Given the description of an element on the screen output the (x, y) to click on. 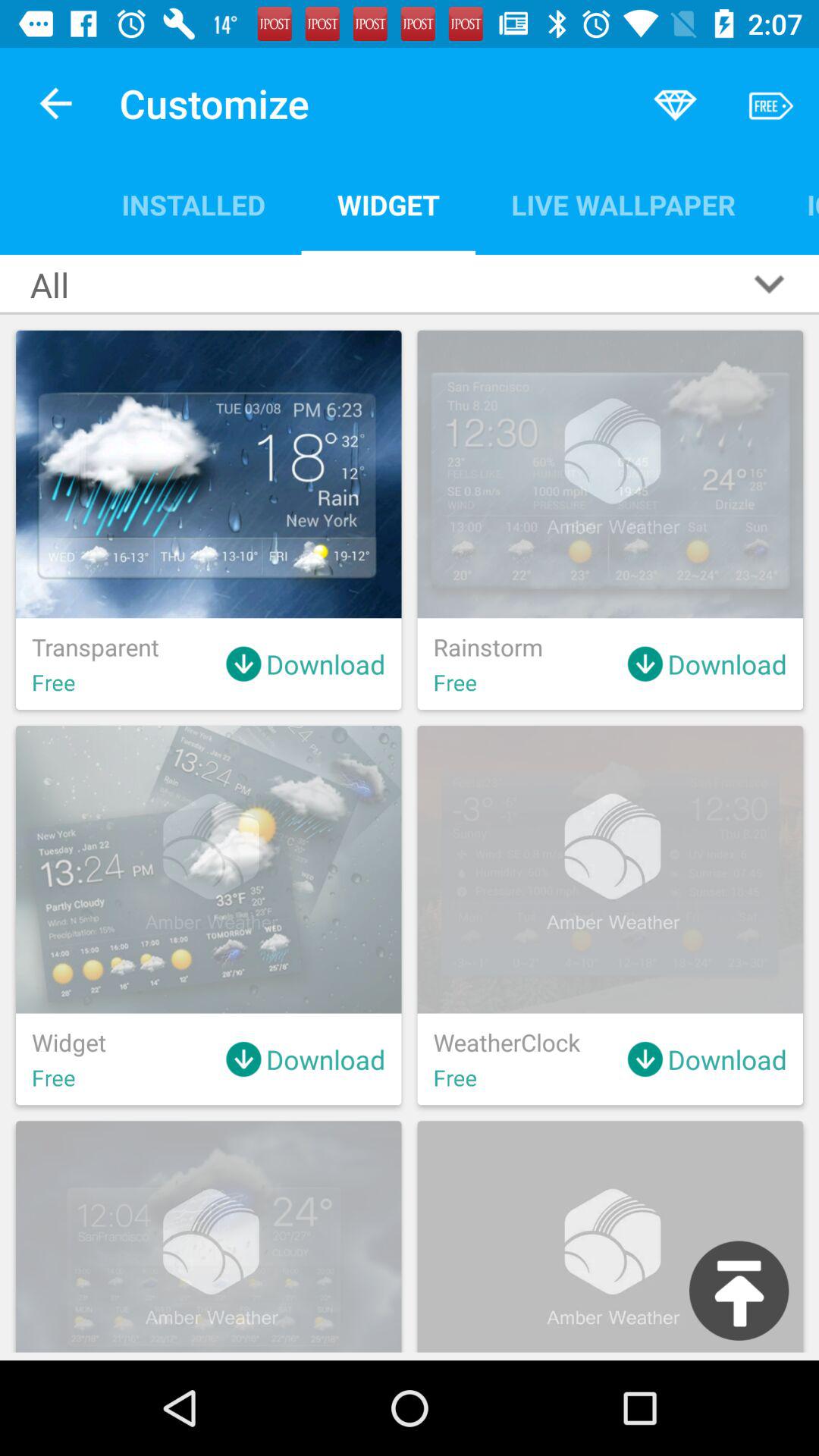
launch the icon below download icon (738, 1290)
